Given the description of an element on the screen output the (x, y) to click on. 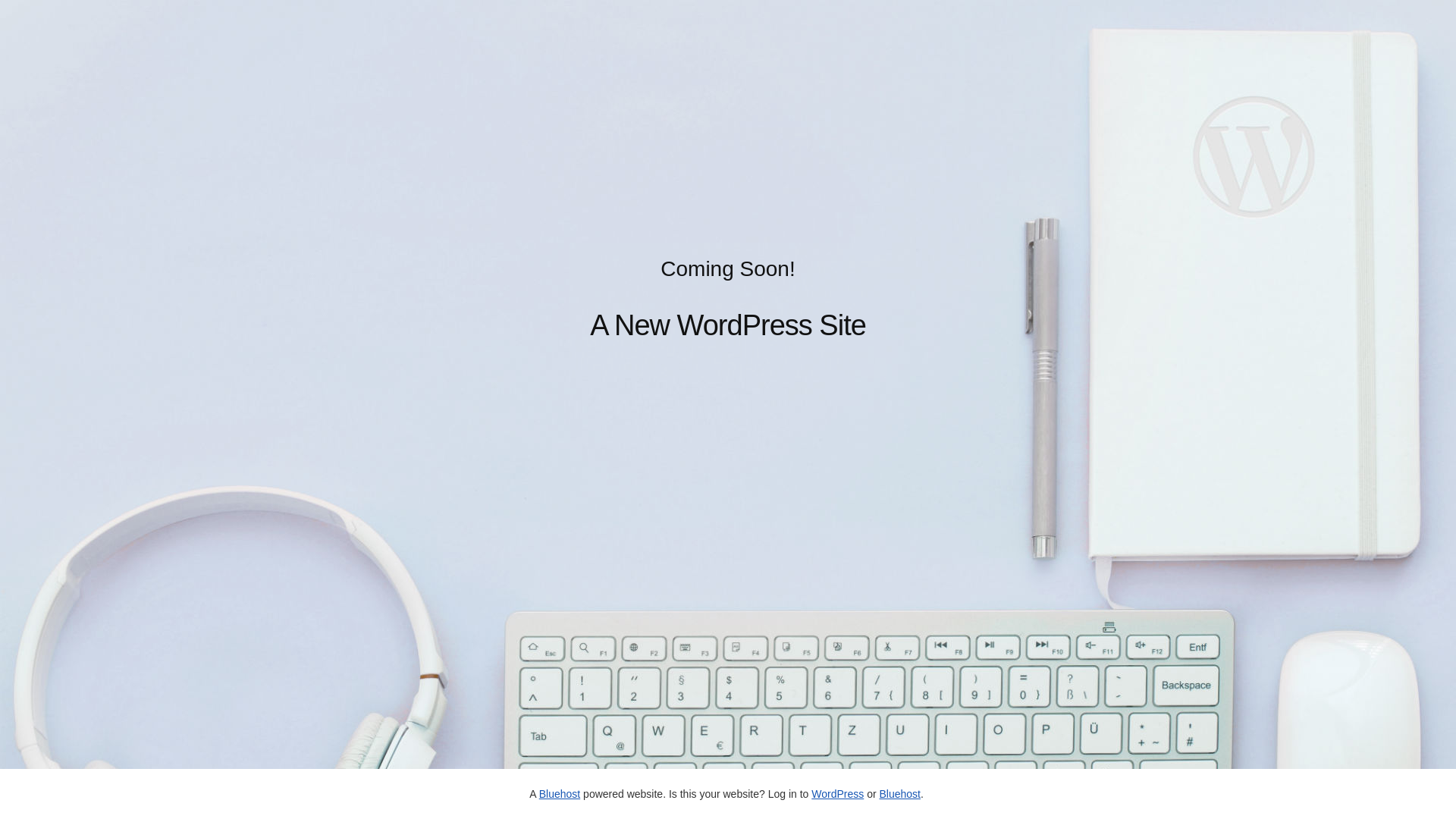
WordPress Element type: text (837, 793)
Bluehost Element type: text (559, 793)
Bluehost Element type: text (898, 793)
